Given the description of an element on the screen output the (x, y) to click on. 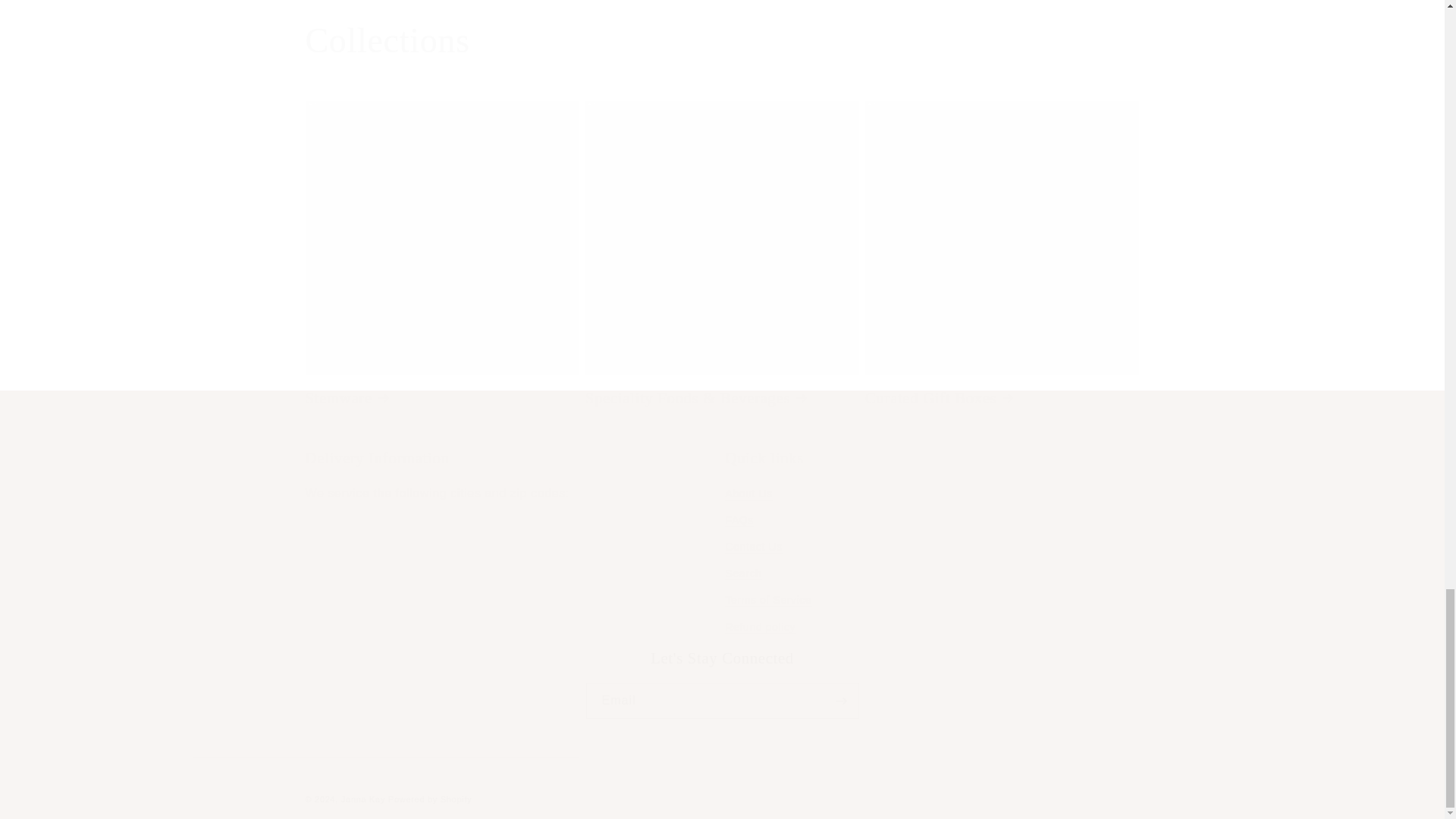
Collections (721, 683)
